Given the description of an element on the screen output the (x, y) to click on. 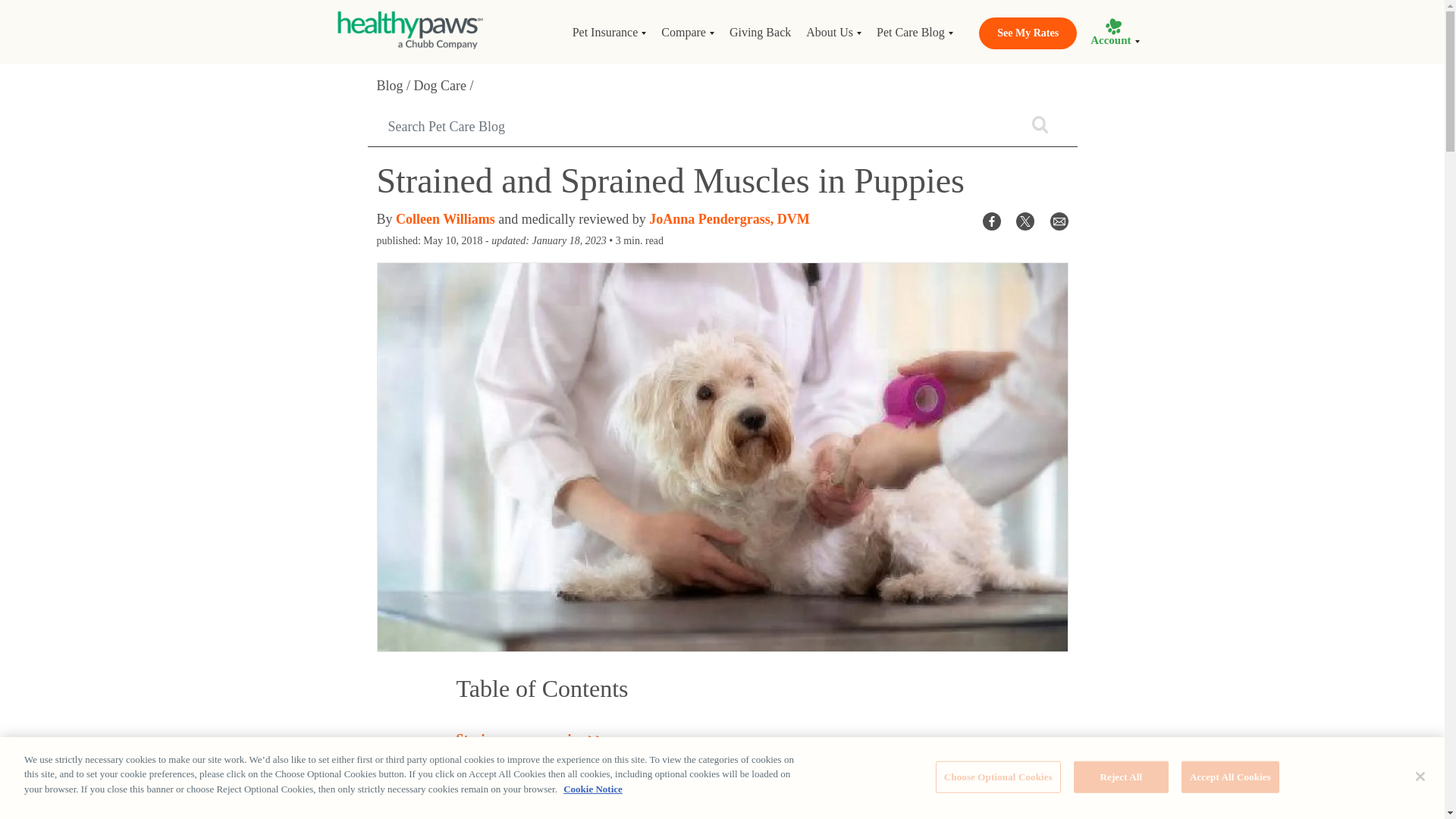
Pet Insurance (608, 32)
Muscle strain treatment (536, 817)
Share Post on Twitter (1024, 219)
Giving Back (759, 32)
Strains versus sprains (530, 739)
About Us (833, 32)
Muscle strain symptoms (537, 795)
Share Post over Email (1058, 219)
What causes muscle strains? (549, 767)
Compare (687, 32)
